Given the description of an element on the screen output the (x, y) to click on. 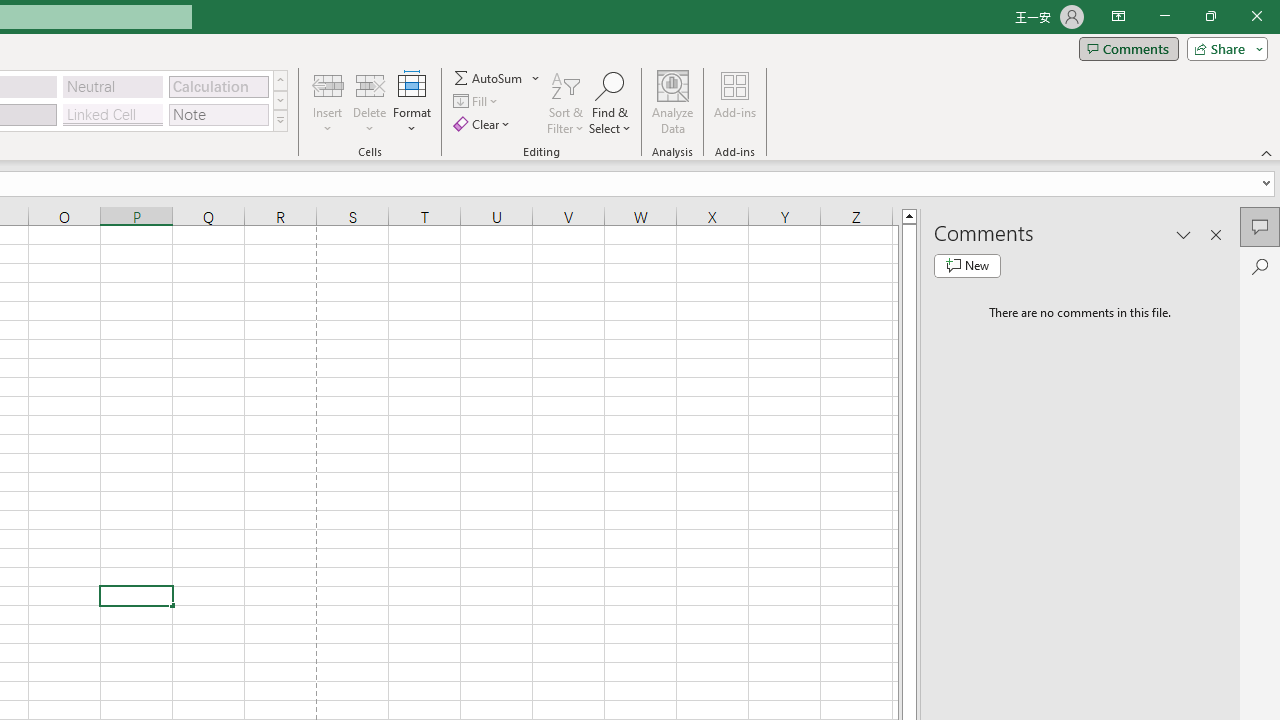
Sum (489, 78)
Note (218, 114)
Insert Cells (328, 84)
Find & Select (610, 102)
New comment (967, 265)
Cell Styles (280, 120)
Sort & Filter (566, 102)
Fill (477, 101)
